Given the description of an element on the screen output the (x, y) to click on. 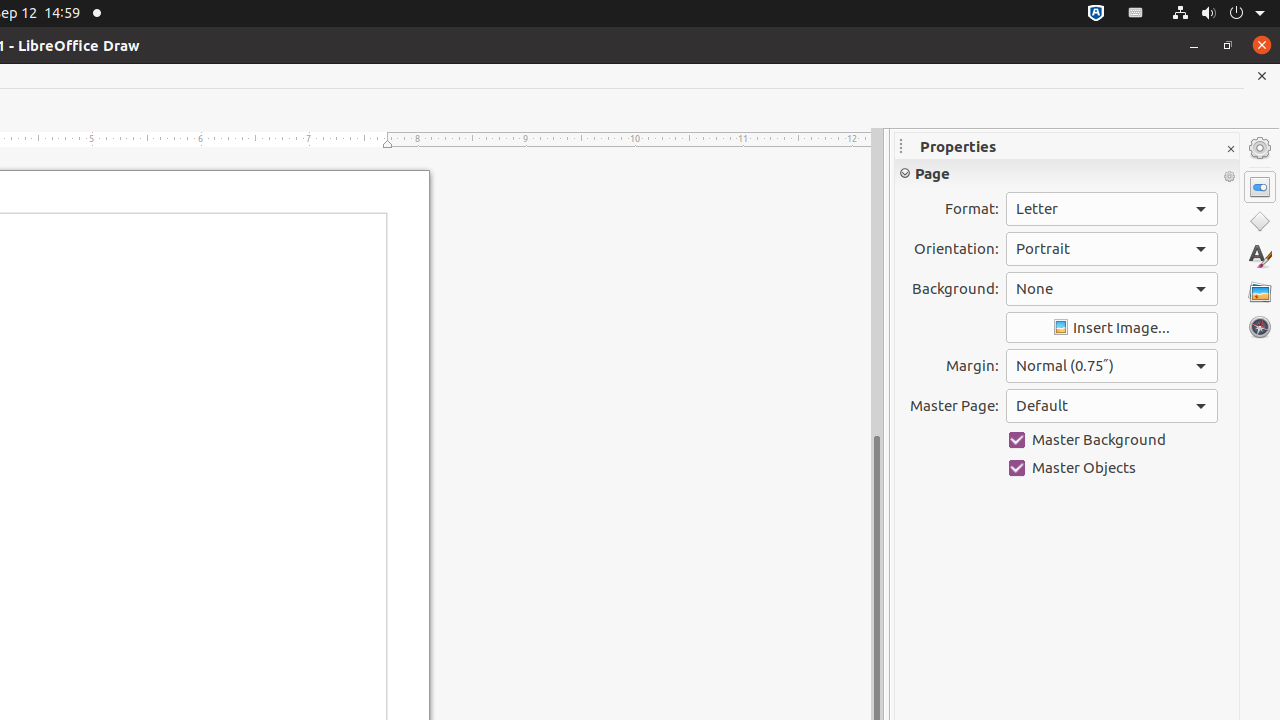
:1.21/StatusNotifierItem Element type: menu (1136, 13)
Margin: Element type: combo-box (1112, 366)
Gallery Element type: radio-button (1260, 292)
:1.72/StatusNotifierItem Element type: menu (1096, 13)
Styles Element type: radio-button (1260, 256)
